Given the description of an element on the screen output the (x, y) to click on. 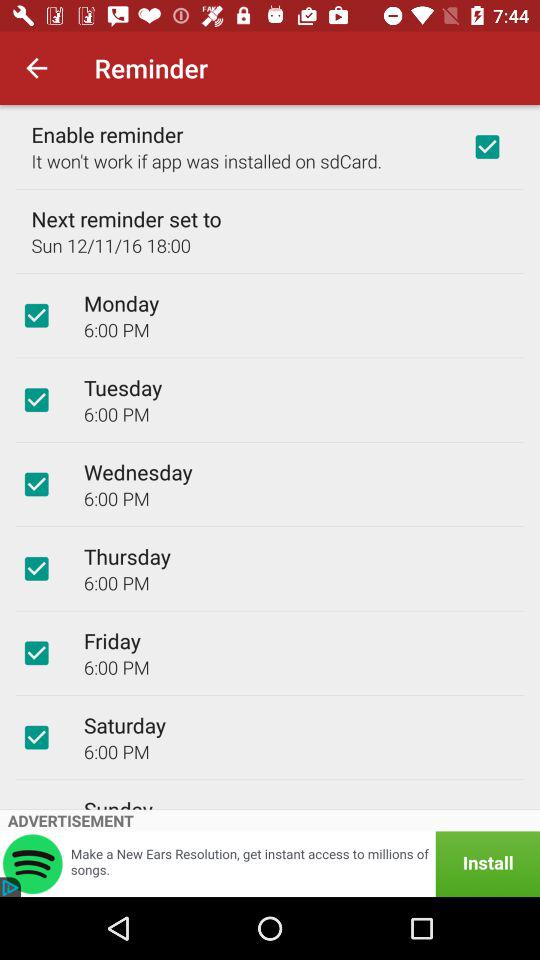
checkbox for reminder on thursday (36, 568)
